Given the description of an element on the screen output the (x, y) to click on. 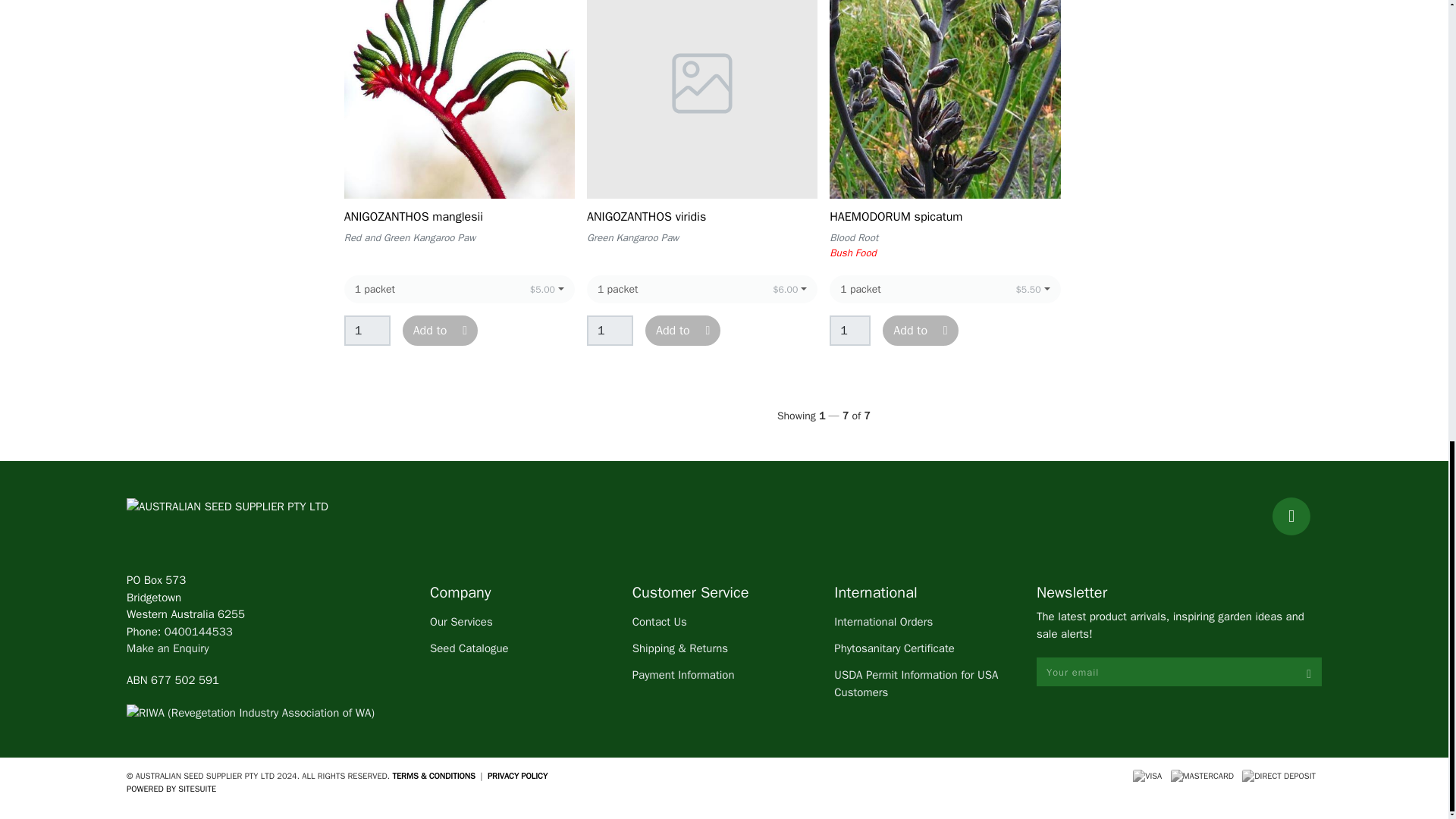
1 (849, 330)
facebook (1291, 516)
ANIGOZANTHOS viridis (646, 216)
ANIGOZANTHOS manglesii (413, 216)
1 (609, 330)
1 (366, 330)
HAEMODORUM spicatum (895, 216)
